Given the description of an element on the screen output the (x, y) to click on. 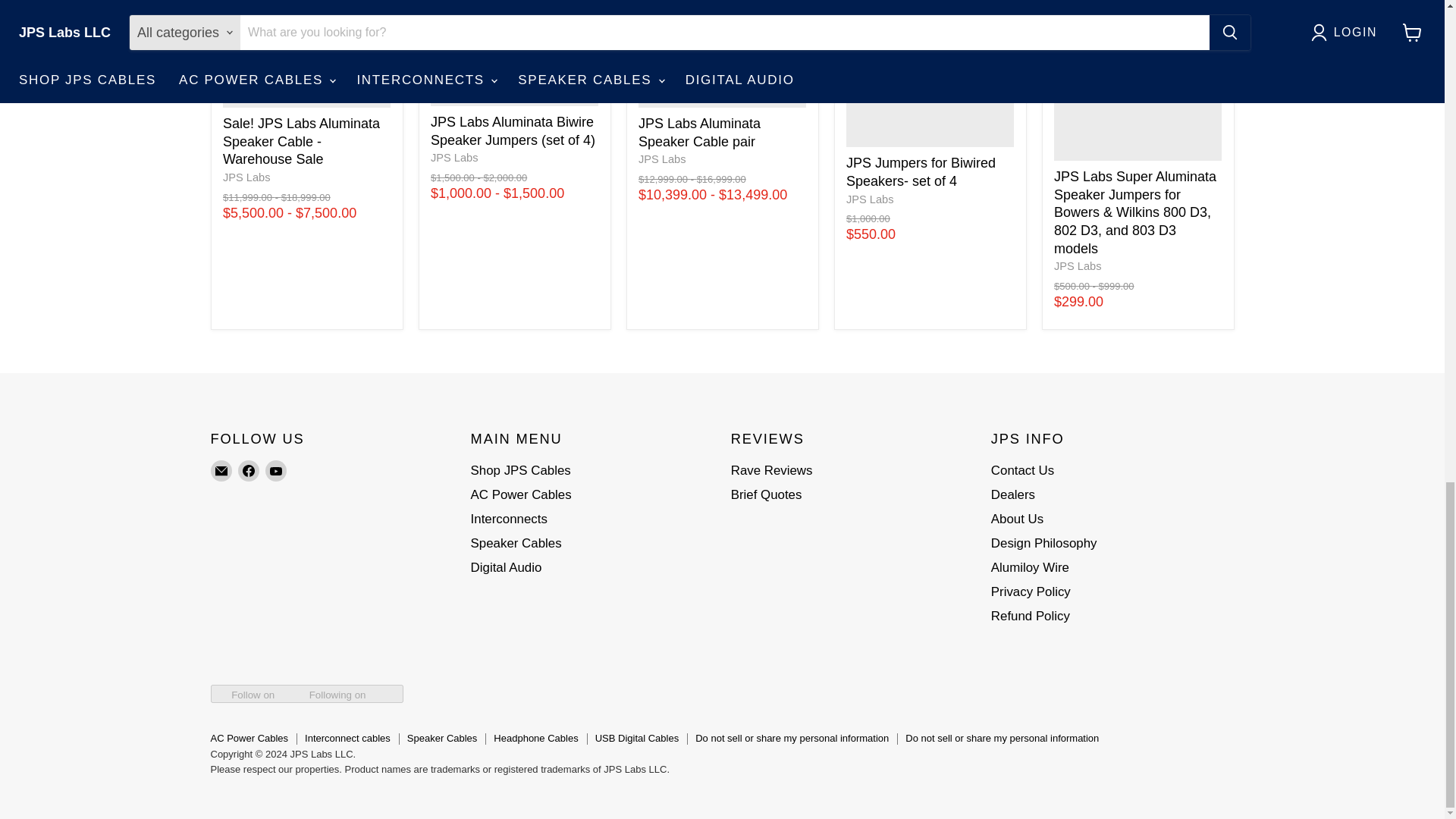
Email (221, 470)
JPS Labs (454, 157)
YouTube (275, 470)
JPS Labs (1078, 265)
JPS Labs (662, 159)
JPS Labs (246, 177)
Facebook (248, 470)
JPS Labs (869, 199)
